Given the description of an element on the screen output the (x, y) to click on. 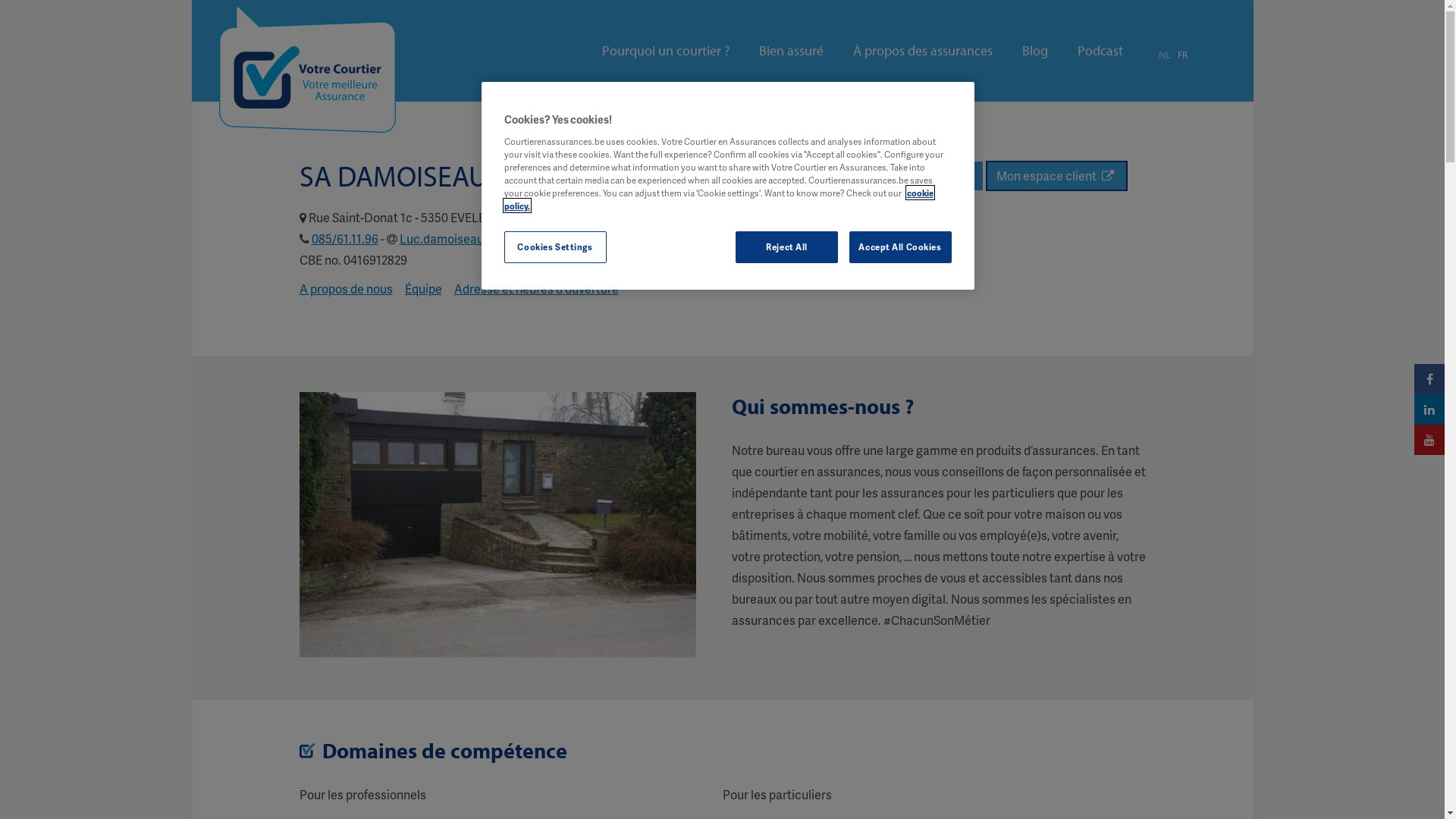
Adresse et heures d'ouverture Element type: text (535, 288)
085/61.11.96 Element type: text (343, 238)
Accept All Cookies Element type: text (900, 247)
Reject All Element type: text (786, 247)
Luc.damoiseau@damoiseau.be Element type: text (484, 238)
NL Element type: text (1164, 54)
cookie policy. Element type: text (717, 198)
Blog Element type: text (1034, 50)
FR Element type: text (1181, 54)
Cookies Settings Element type: text (554, 247)
Mon espace client Element type: text (1056, 175)
Pourquoi un courtier ? Element type: text (665, 50)
A propos de nous Element type: text (345, 288)
Podcast Element type: text (1099, 50)
Contact Element type: text (863, 175)
Documents Element type: text (939, 175)
